Given the description of an element on the screen output the (x, y) to click on. 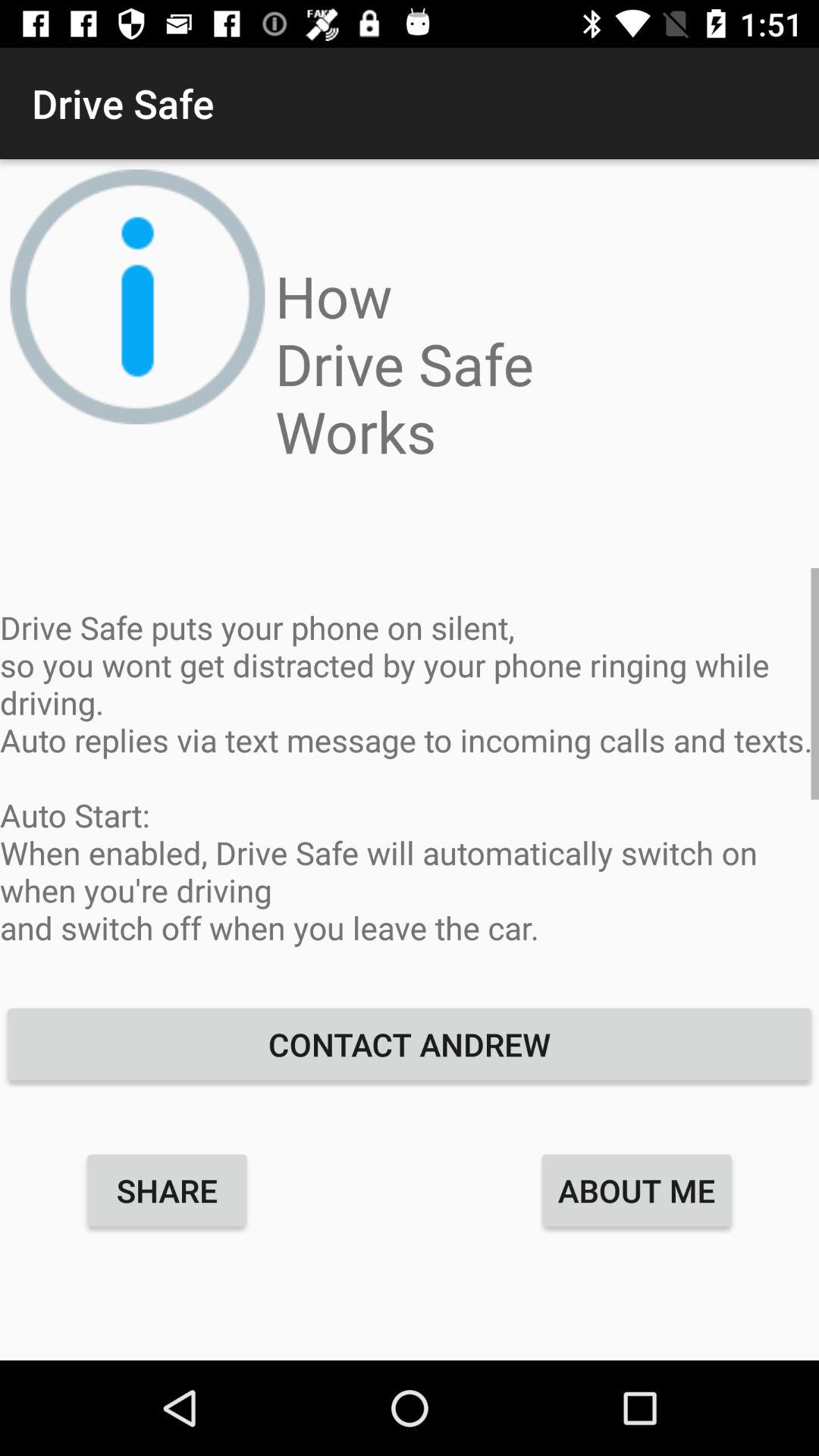
select the icon above the about me (409, 1044)
